Given the description of an element on the screen output the (x, y) to click on. 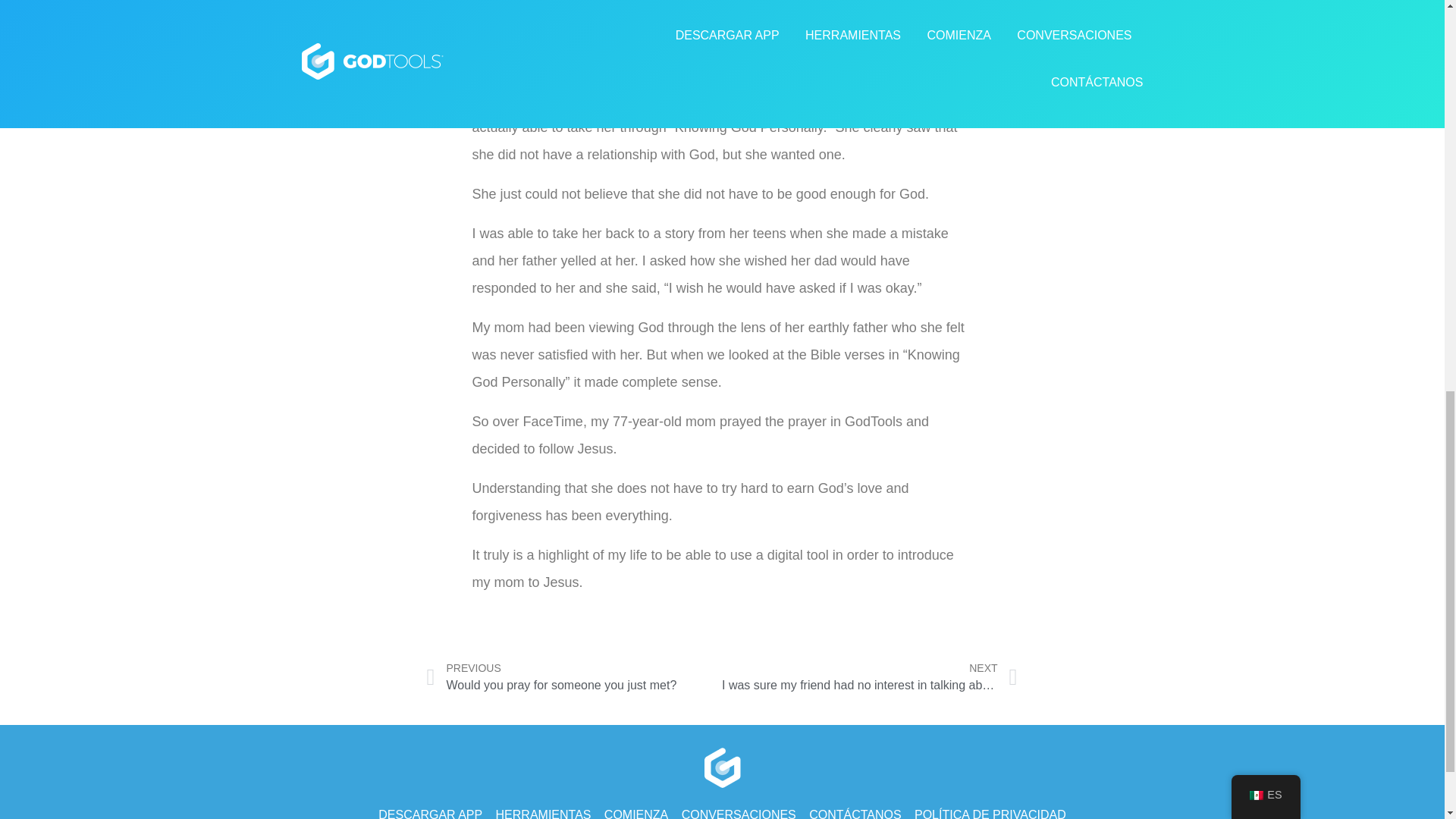
CONVERSACIONES (738, 811)
DESCARGAR APP (429, 811)
HERRAMIENTAS (574, 677)
COMIENZA (543, 811)
